Given the description of an element on the screen output the (x, y) to click on. 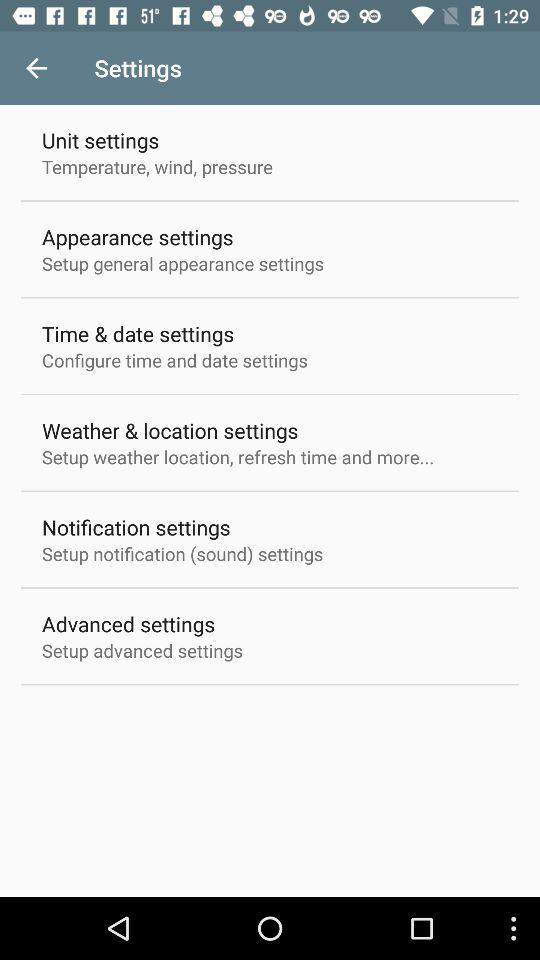
open setup notification sound item (182, 553)
